Given the description of an element on the screen output the (x, y) to click on. 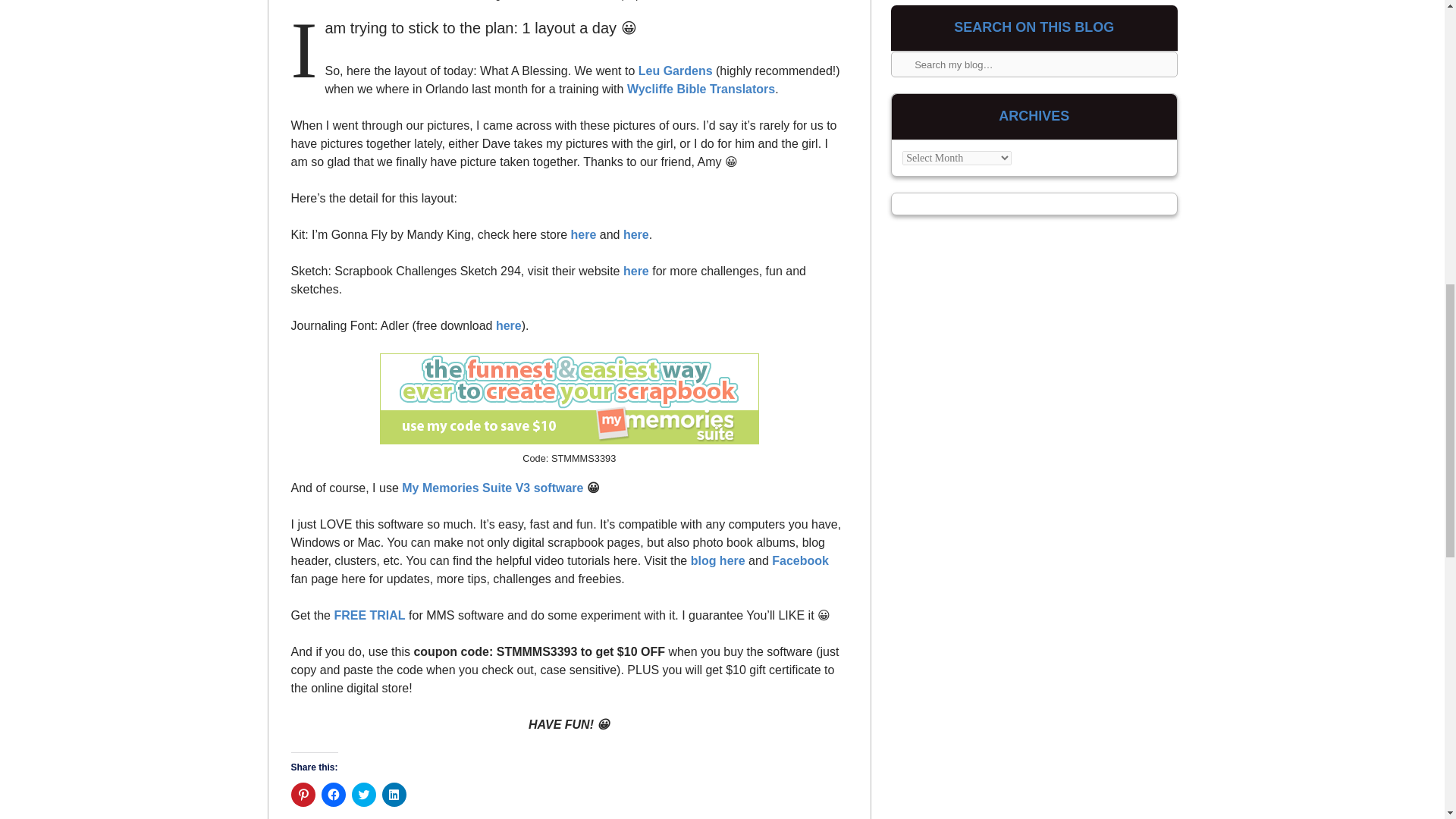
here (636, 234)
here (636, 270)
Funnest-500x120-BLINK (569, 398)
Click to share on Pinterest (303, 794)
Click to share on Twitter (363, 794)
here (583, 234)
here (508, 325)
Wycliffe Bible Translators (700, 88)
FREE TRIAL (368, 615)
Click to share on LinkedIn (393, 794)
